Given the description of an element on the screen output the (x, y) to click on. 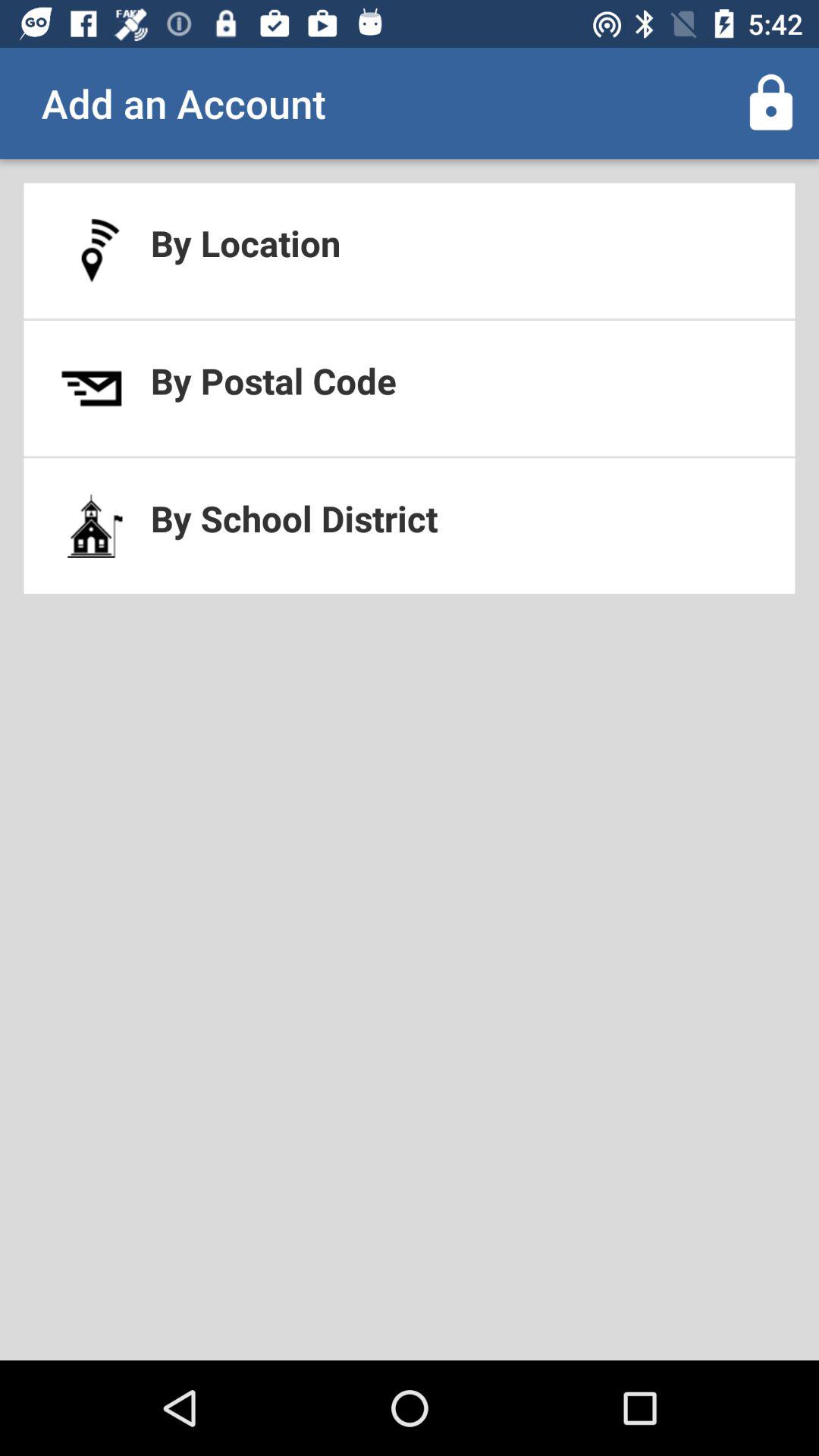
tap by location item (409, 250)
